Given the description of an element on the screen output the (x, y) to click on. 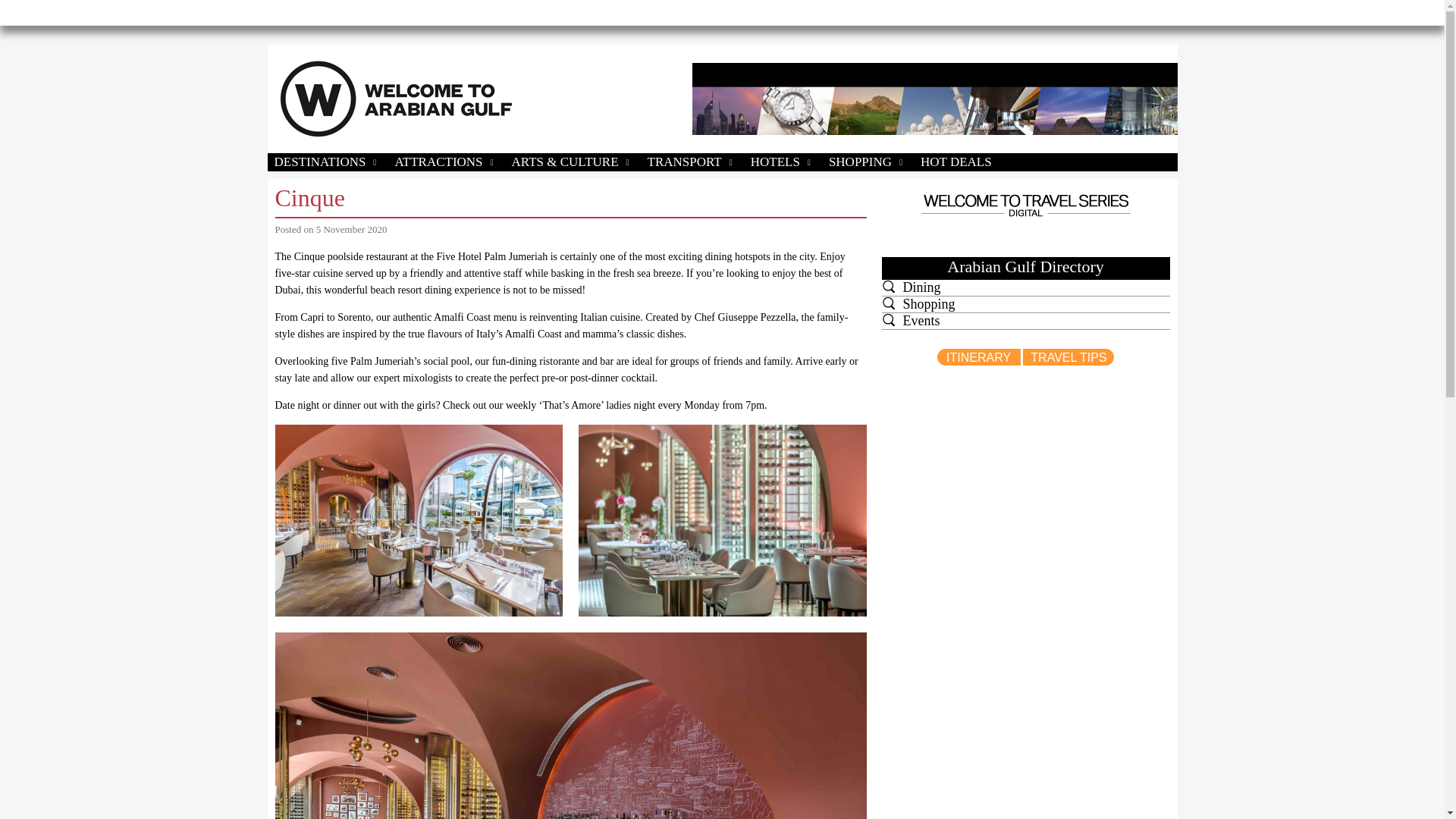
HOT DEALS (955, 162)
HOTELS (781, 162)
ATTRACTIONS (444, 162)
TRANSPORT (691, 162)
DESTINATIONS (326, 162)
SHOPPING (866, 162)
